Given the description of an element on the screen output the (x, y) to click on. 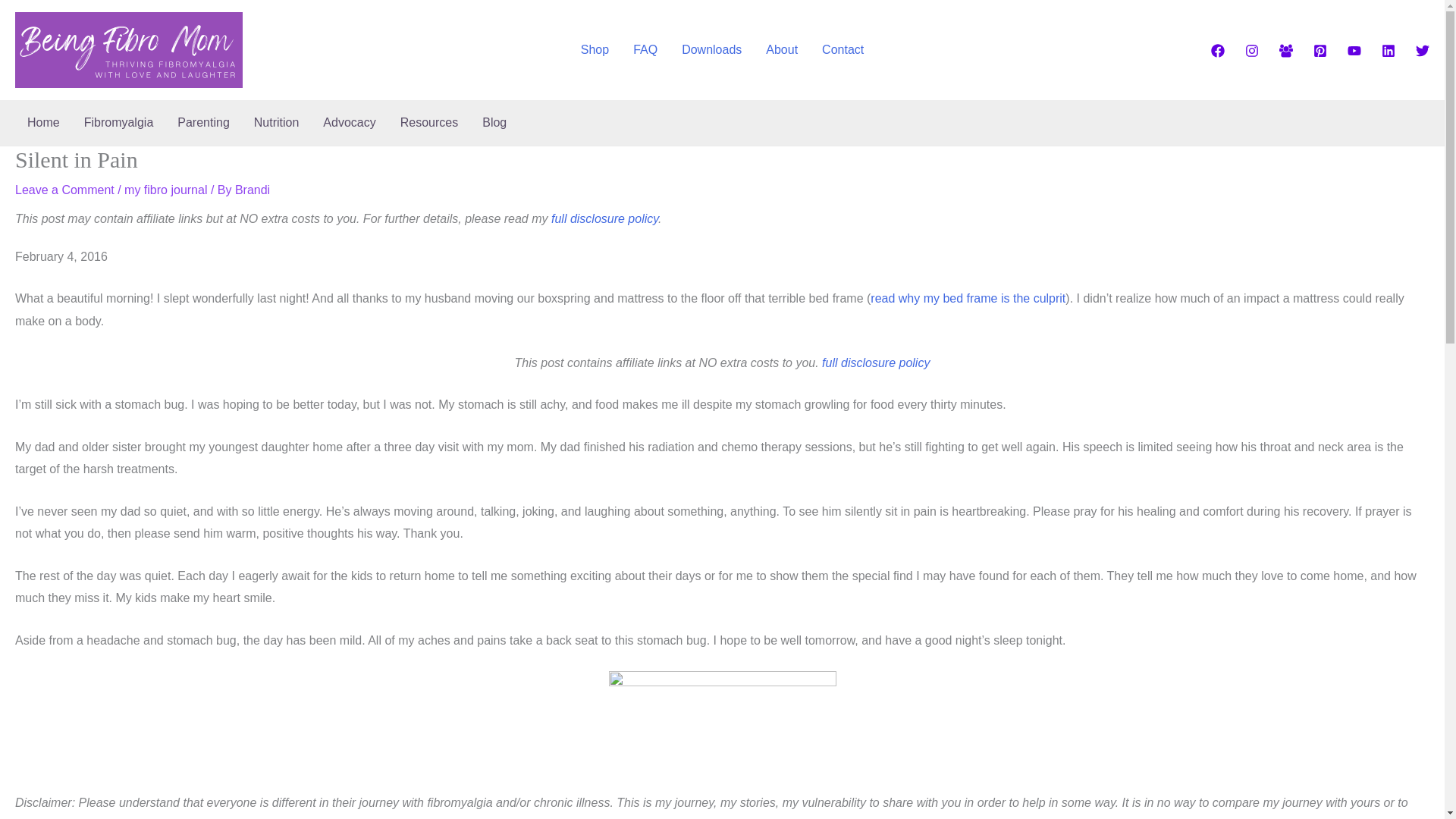
Downloads (711, 49)
FAQ (645, 49)
Advocacy (349, 122)
Contact (842, 49)
Home (42, 122)
Resources (429, 122)
Leave a Comment (64, 189)
read why my bed frame is the culprit (967, 297)
Nutrition (276, 122)
Parenting (203, 122)
